Given the description of an element on the screen output the (x, y) to click on. 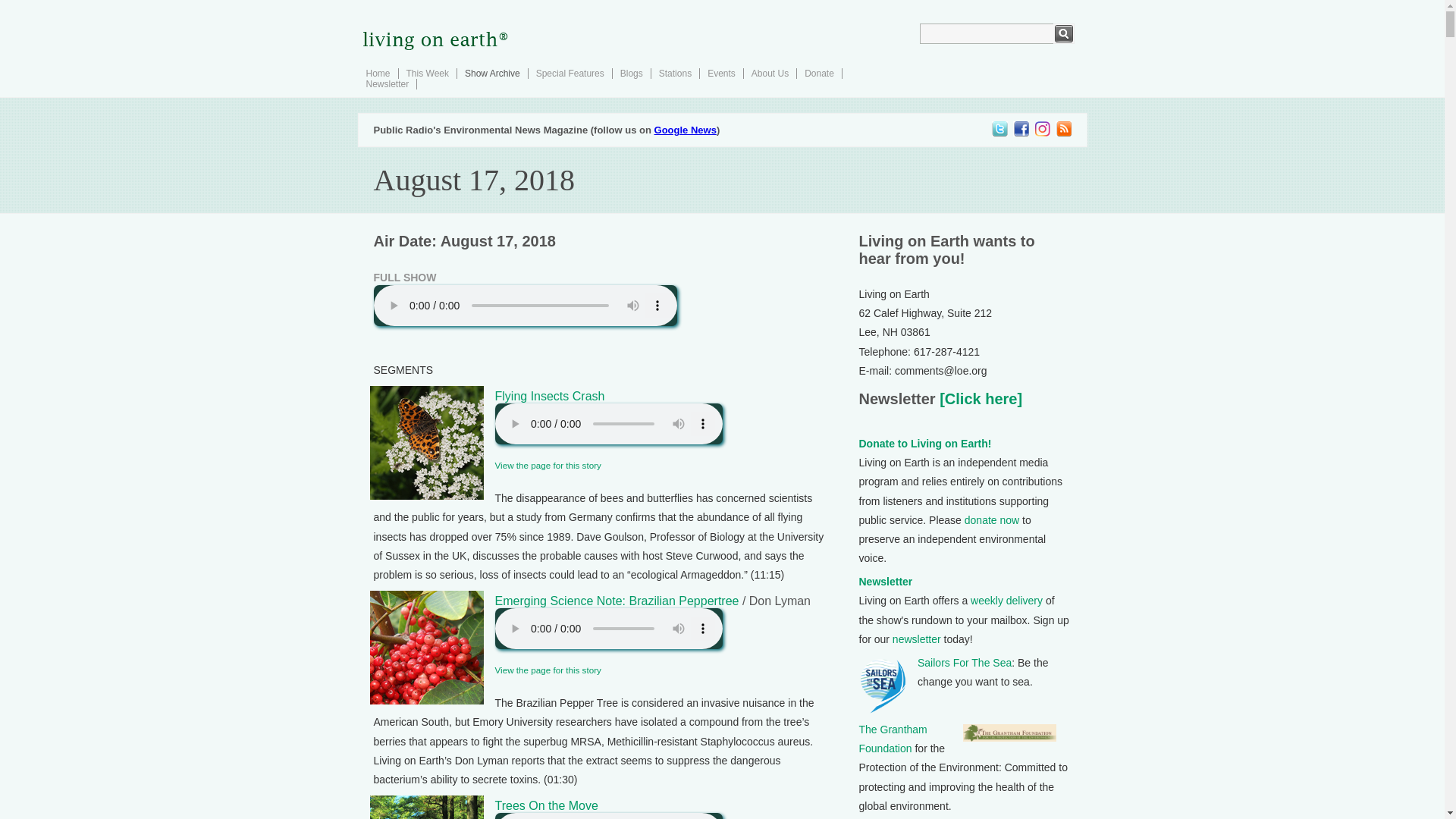
Stations (675, 72)
Trees On the Move (545, 805)
Donate (819, 72)
Emerging Science Note: Brazilian Peppertree (616, 600)
Show Archive (491, 72)
Newsletter (387, 83)
Google News (684, 129)
Blogs (631, 72)
View the page for this story (547, 465)
About Us (770, 72)
View the page for this story (547, 669)
Special Features (569, 72)
Flying Insects Crash (549, 395)
Events (721, 72)
Home (377, 72)
